Given the description of an element on the screen output the (x, y) to click on. 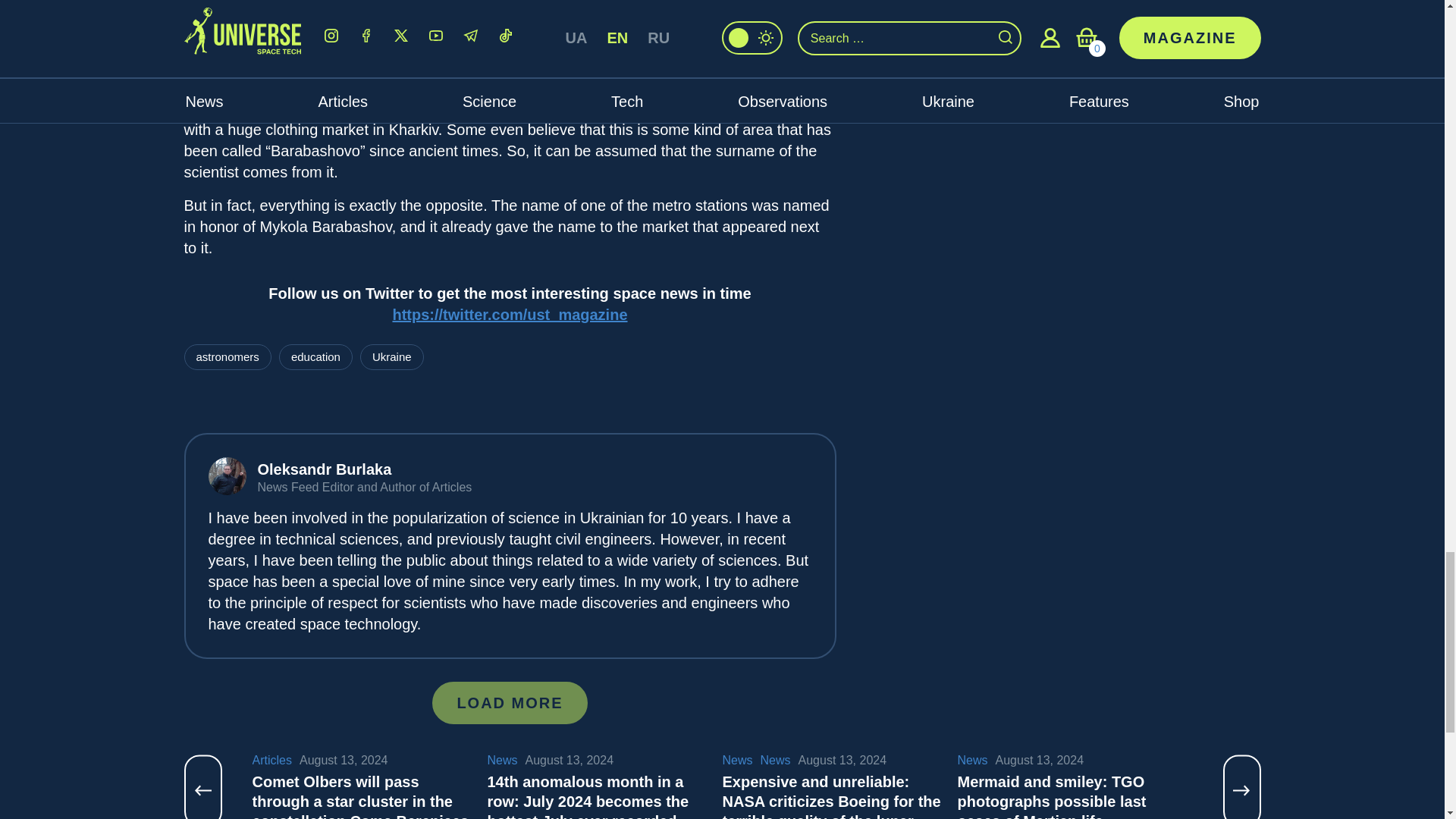
astronomers (226, 356)
Ukraine (391, 356)
education (315, 356)
